Given the description of an element on the screen output the (x, y) to click on. 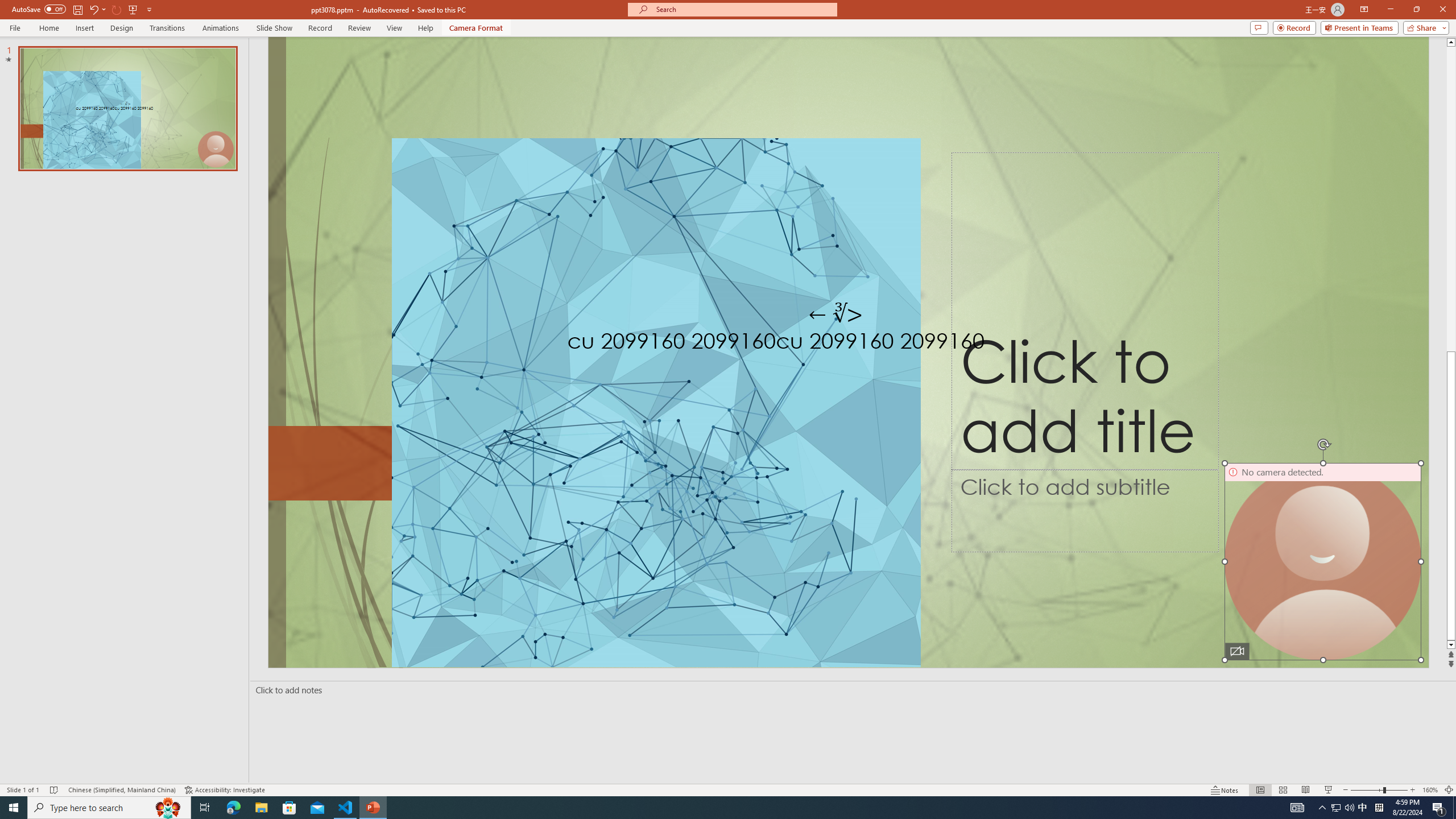
Zoom 160% (1430, 790)
